Given the description of an element on the screen output the (x, y) to click on. 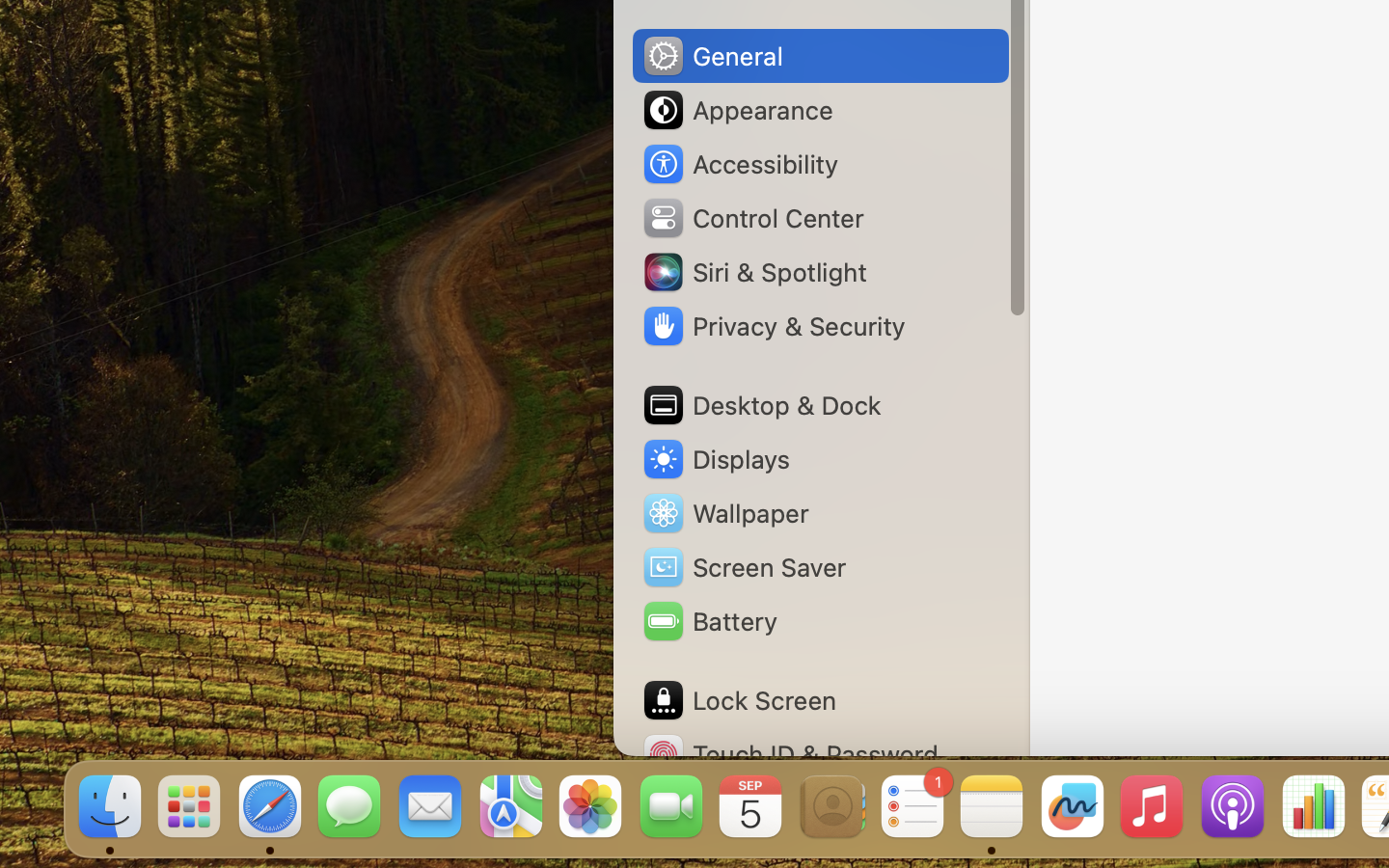
Accessibility Element type: AXStaticText (739, 163)
Siri & Spotlight Element type: AXStaticText (753, 271)
Control Center Element type: AXStaticText (752, 217)
